Given the description of an element on the screen output the (x, y) to click on. 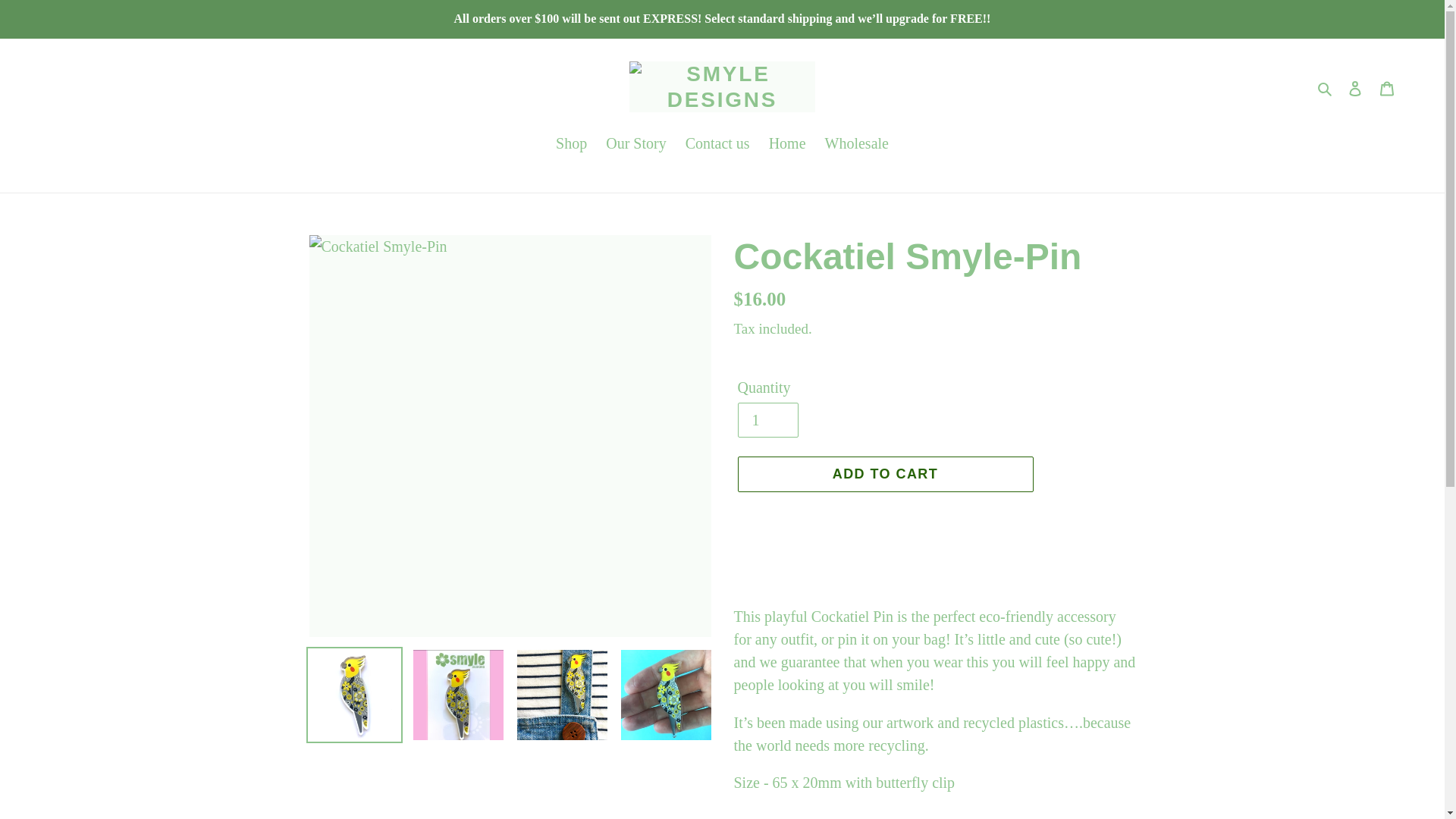
Our Story (635, 144)
Shop (571, 144)
Wholesale (856, 144)
Home (787, 144)
1 (766, 419)
Search (1326, 87)
ADD TO CART (884, 474)
Contact us (717, 144)
